Given the description of an element on the screen output the (x, y) to click on. 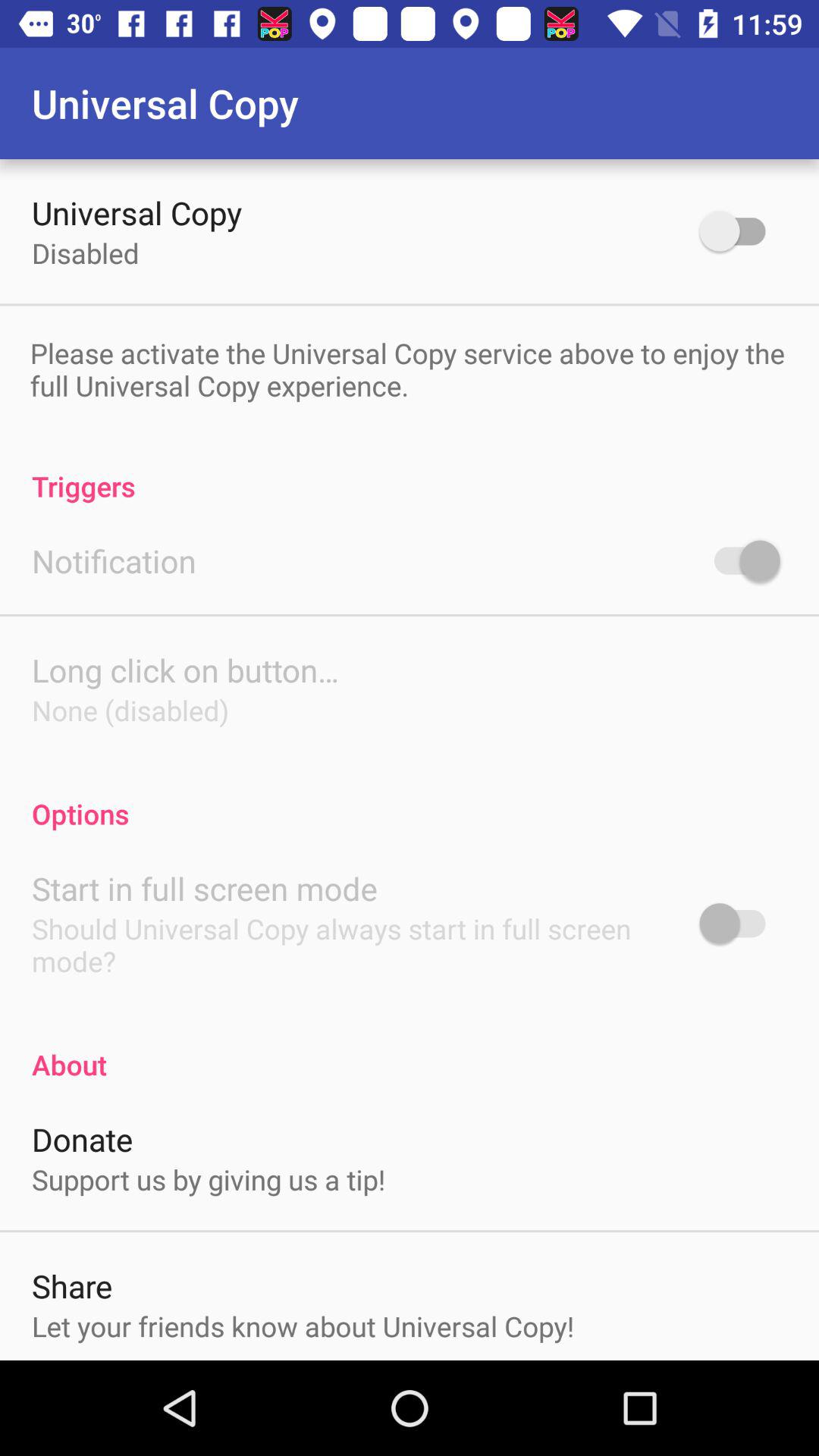
click share item (71, 1285)
